Given the description of an element on the screen output the (x, y) to click on. 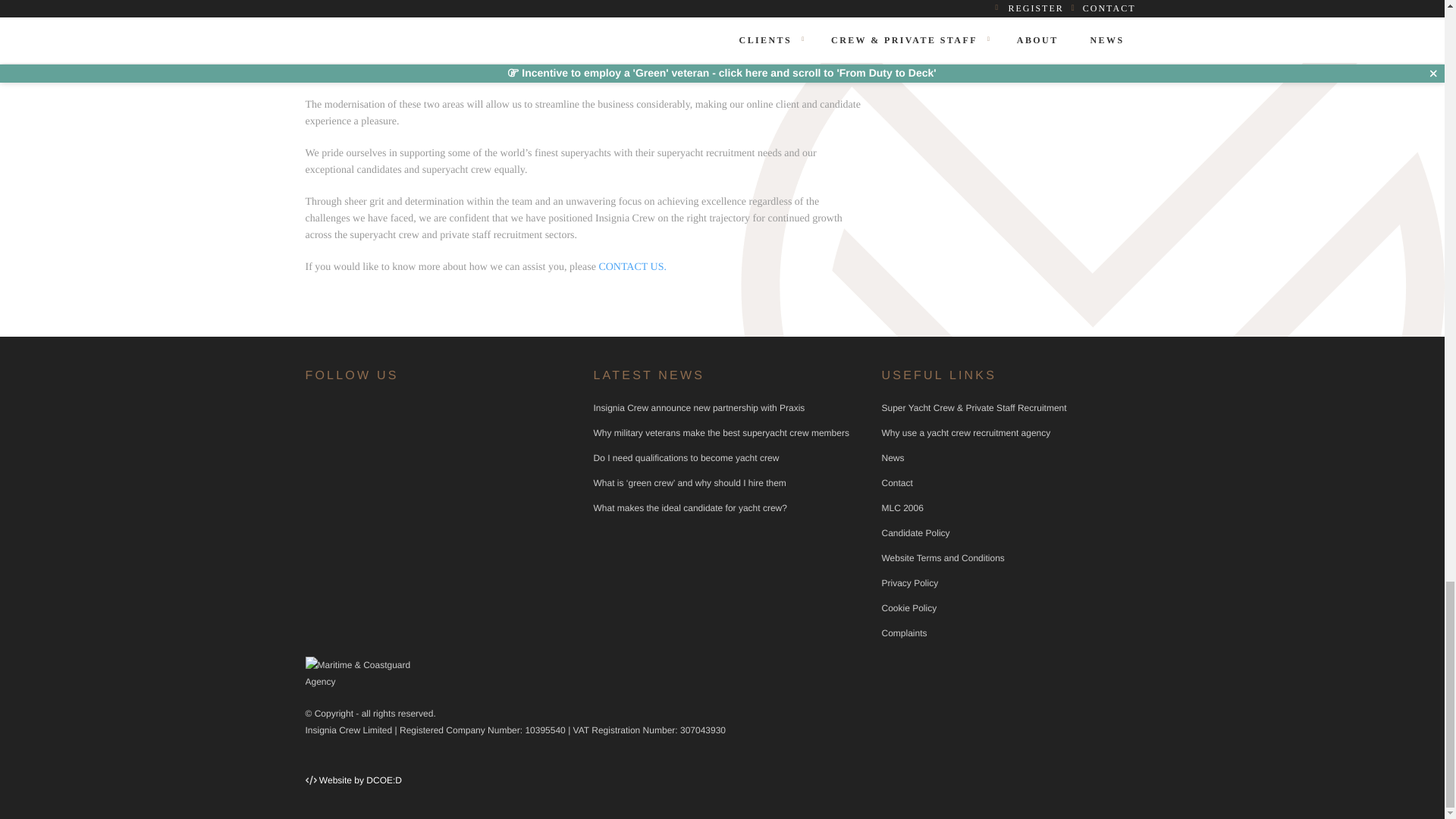
CONTACT US. (632, 266)
What makes the ideal candidate for yacht crew? (689, 507)
News (892, 457)
Wordpress website development, Bristol (359, 779)
Insignia Crew announce new partnership with Praxis (698, 407)
Do I need qualifications to become yacht crew (685, 457)
Why military veterans make the best superyacht crew members (720, 432)
Why use a yacht crew recruitment agency (964, 432)
